Given the description of an element on the screen output the (x, y) to click on. 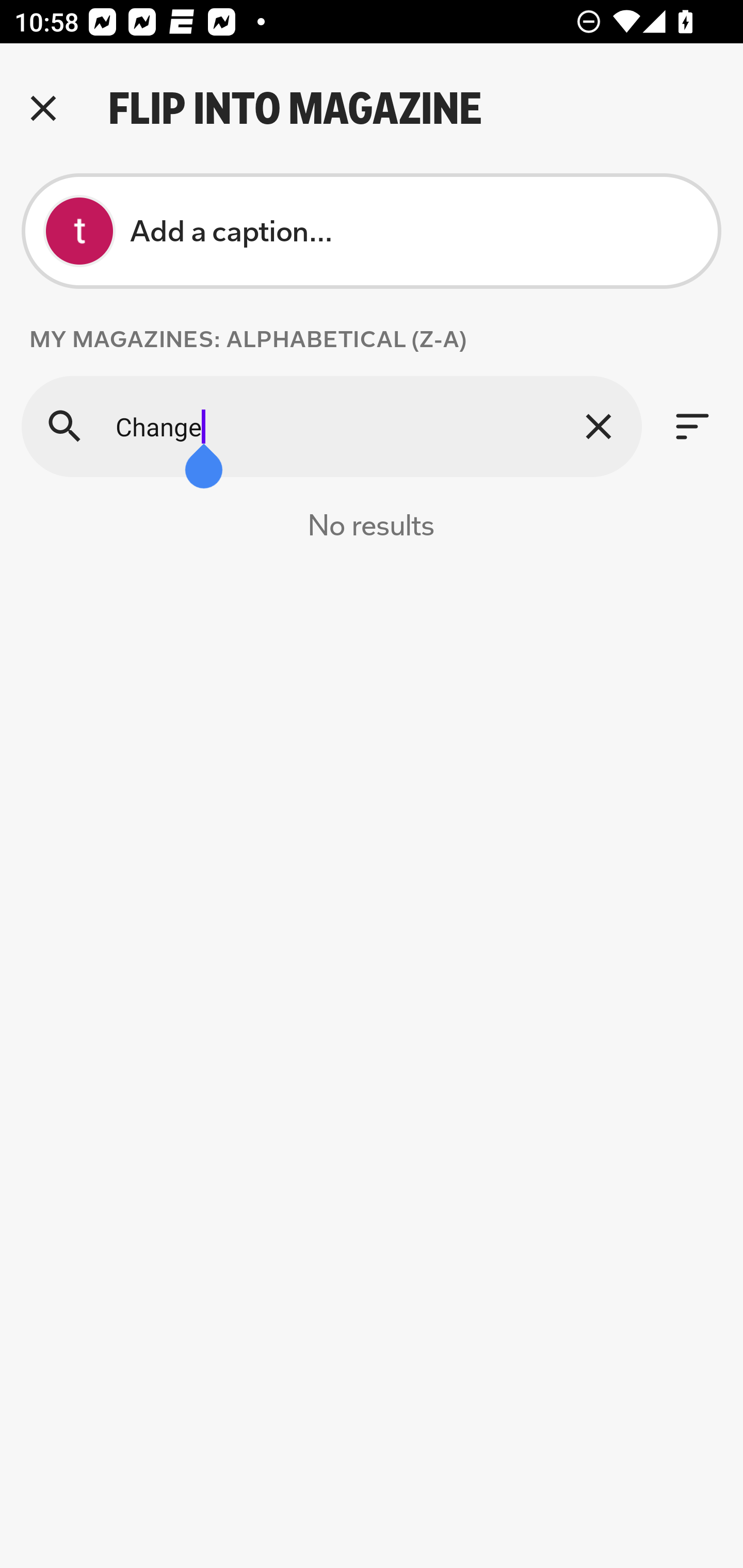
test appium Add a caption… (371, 231)
Change Search (331, 426)
